Given the description of an element on the screen output the (x, y) to click on. 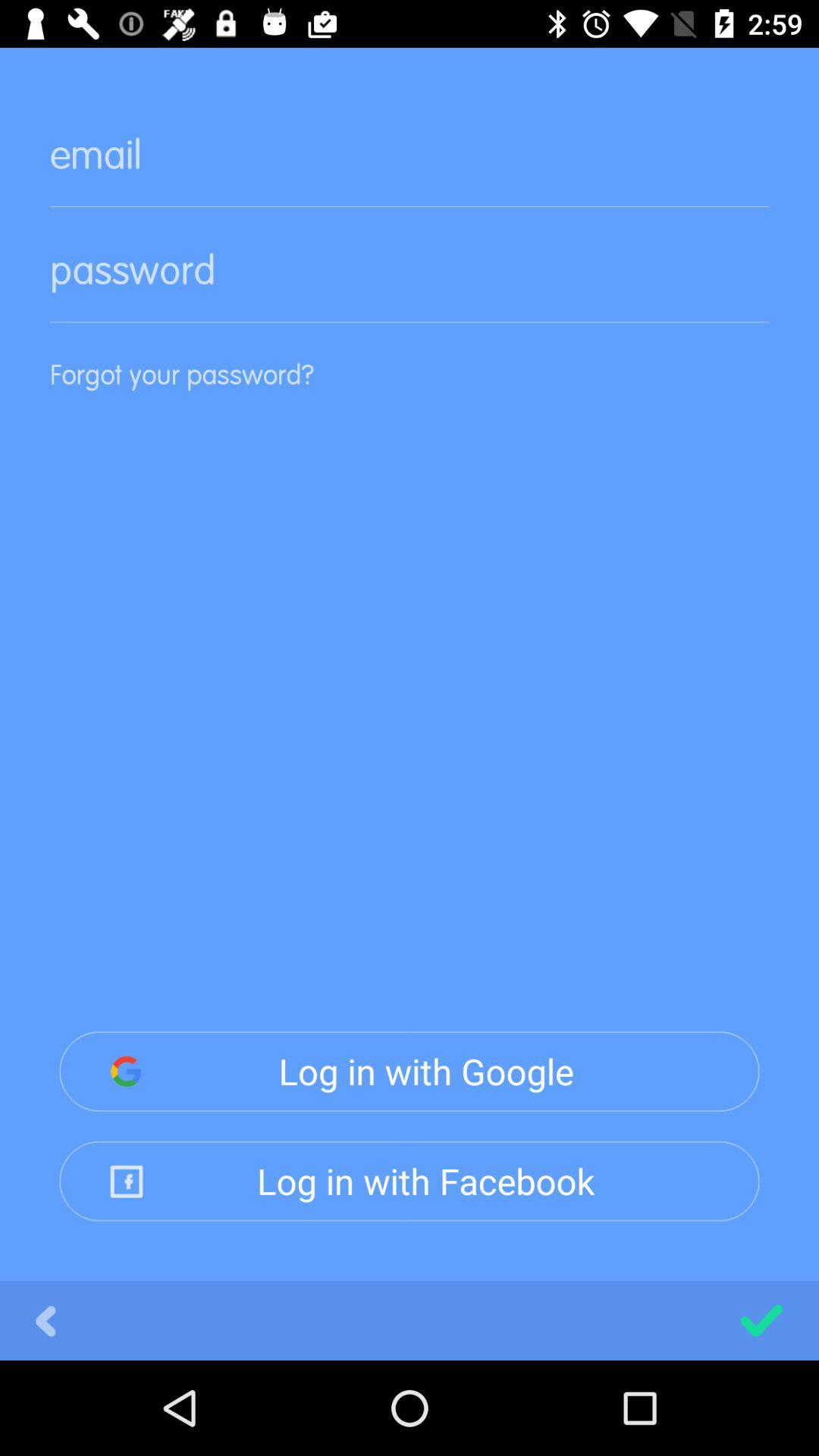
press icon below log in with item (45, 1320)
